Given the description of an element on the screen output the (x, y) to click on. 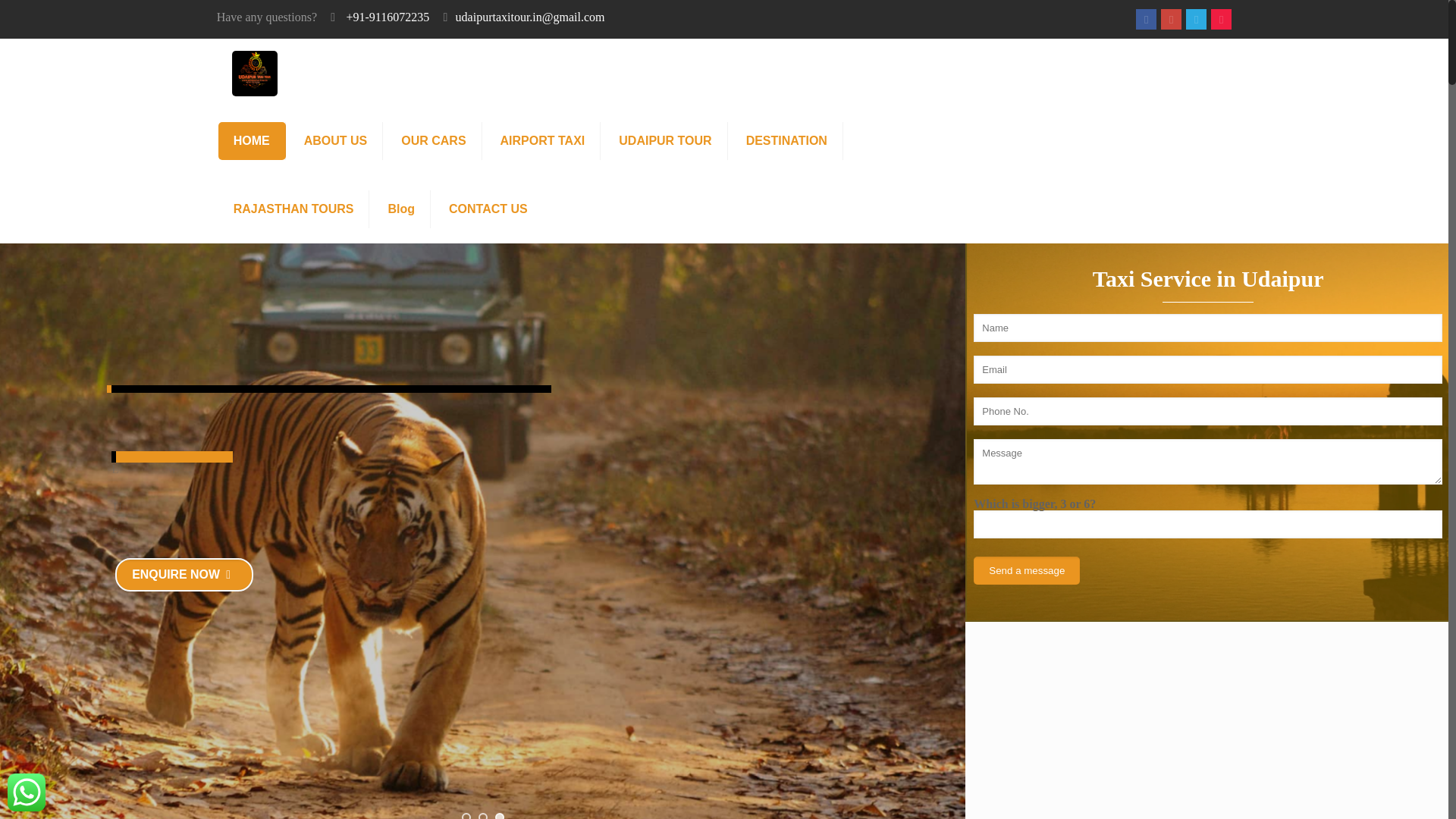
RAJASTHAN TOURS (293, 209)
Instagram (1220, 19)
UDAIPUR TOUR (665, 140)
Twitter (1196, 19)
ABOUT US (336, 140)
Facebook (1146, 19)
Send a message (1027, 570)
ENQUIRE NOW (184, 574)
HOME (251, 140)
Blog (401, 209)
AIRPORT TAXI (542, 140)
DESTINATION (786, 140)
OUR CARS (433, 140)
CONTACT US (488, 209)
